Given the description of an element on the screen output the (x, y) to click on. 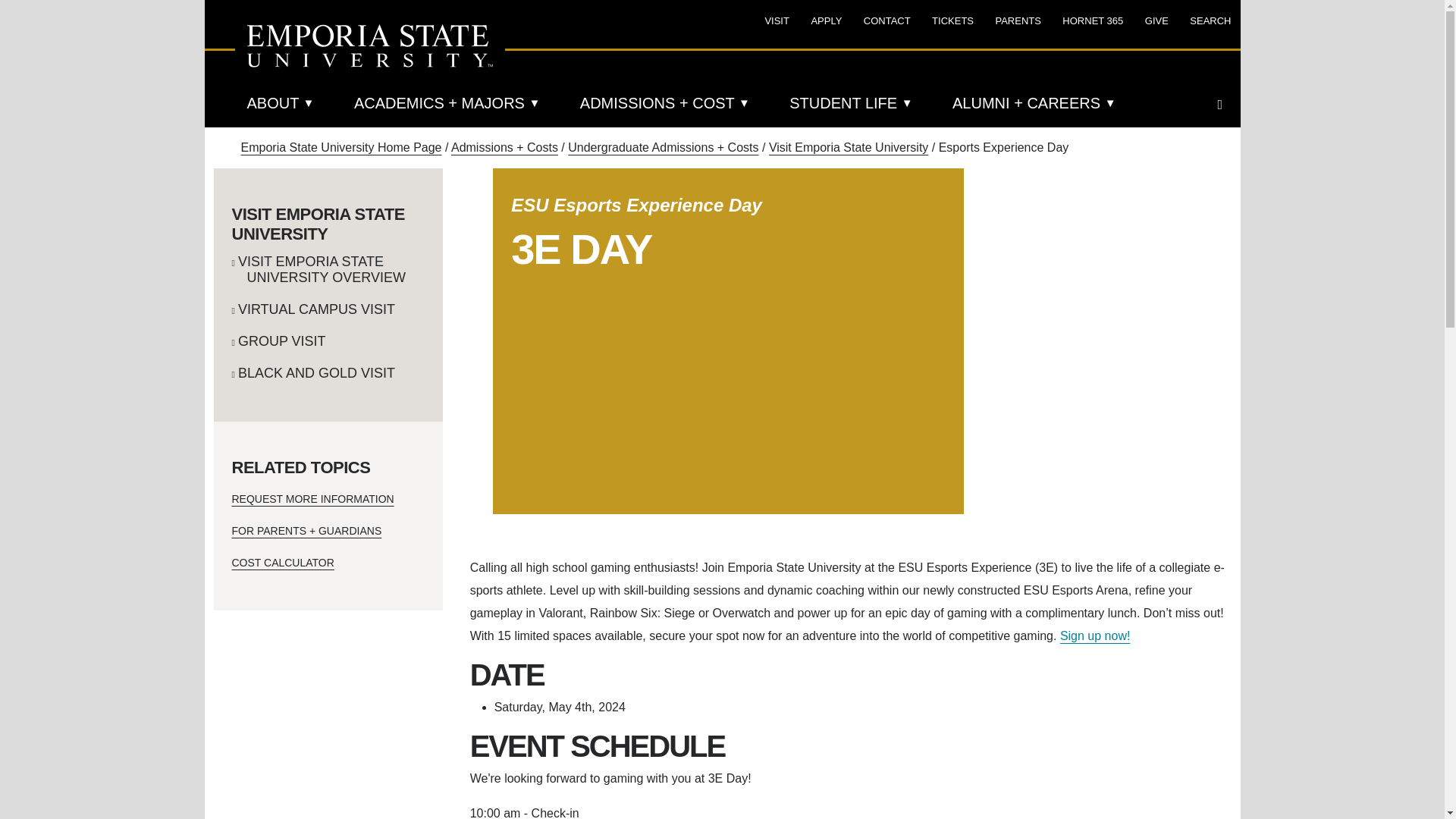
Search Emporia.edu (1224, 104)
